Given the description of an element on the screen output the (x, y) to click on. 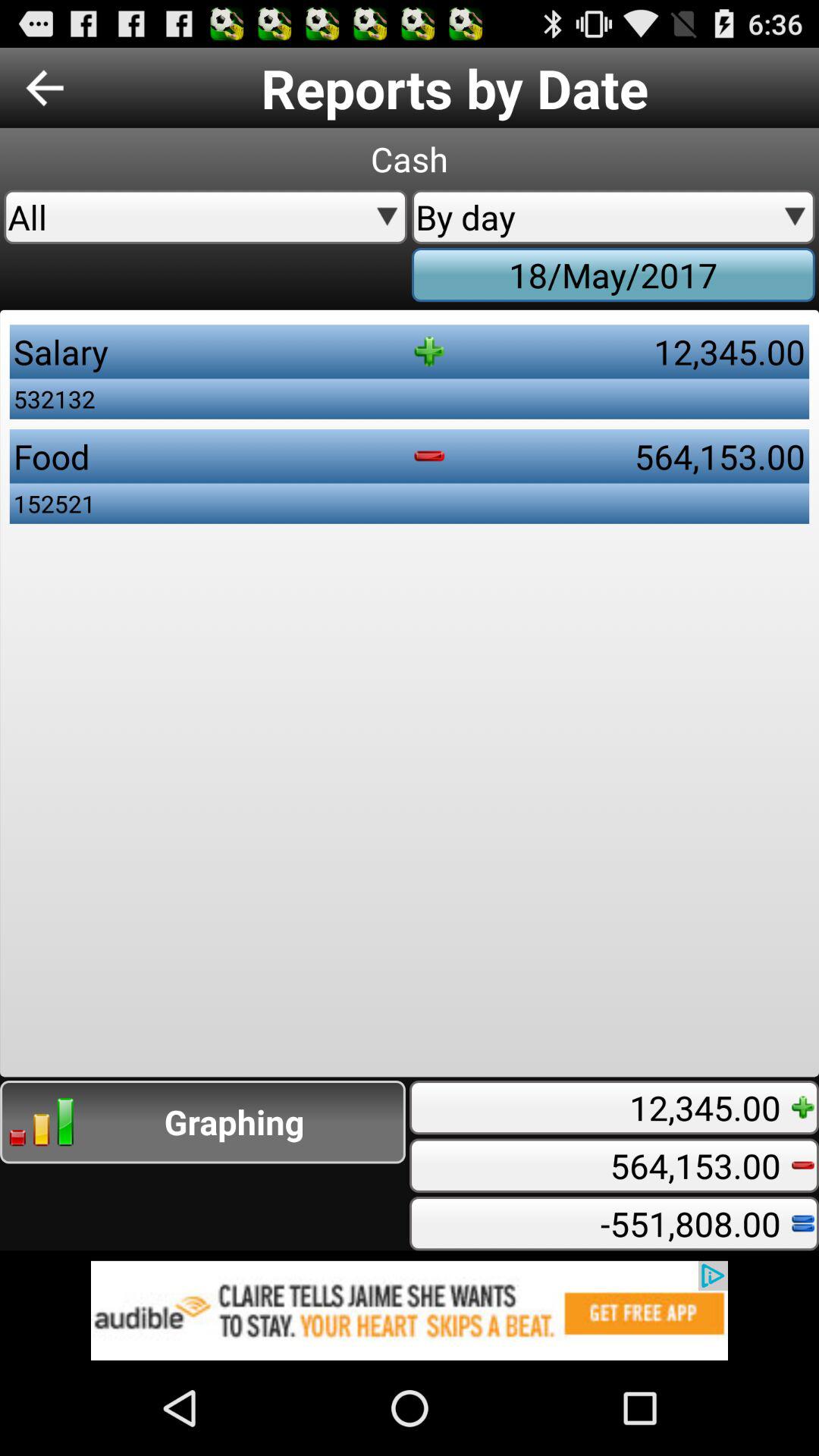
advatisment (409, 1310)
